Given the description of an element on the screen output the (x, y) to click on. 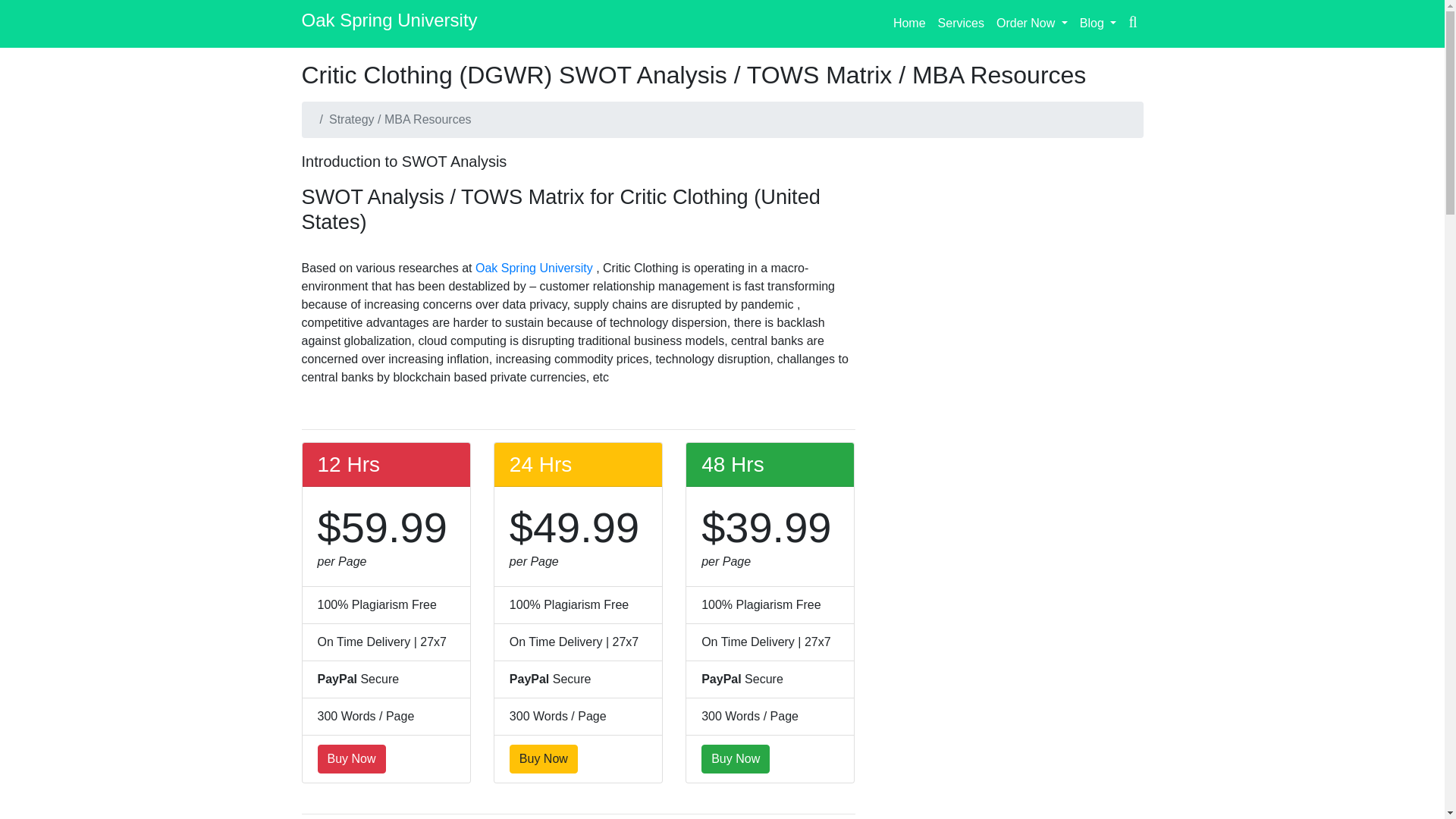
Buy Now (351, 758)
Oak Spring University (535, 267)
Buy Now (543, 758)
Order Now (1032, 23)
Oak Spring University (389, 23)
Home (908, 23)
Blog (1098, 23)
Services (960, 23)
Buy Now (735, 758)
